Given the description of an element on the screen output the (x, y) to click on. 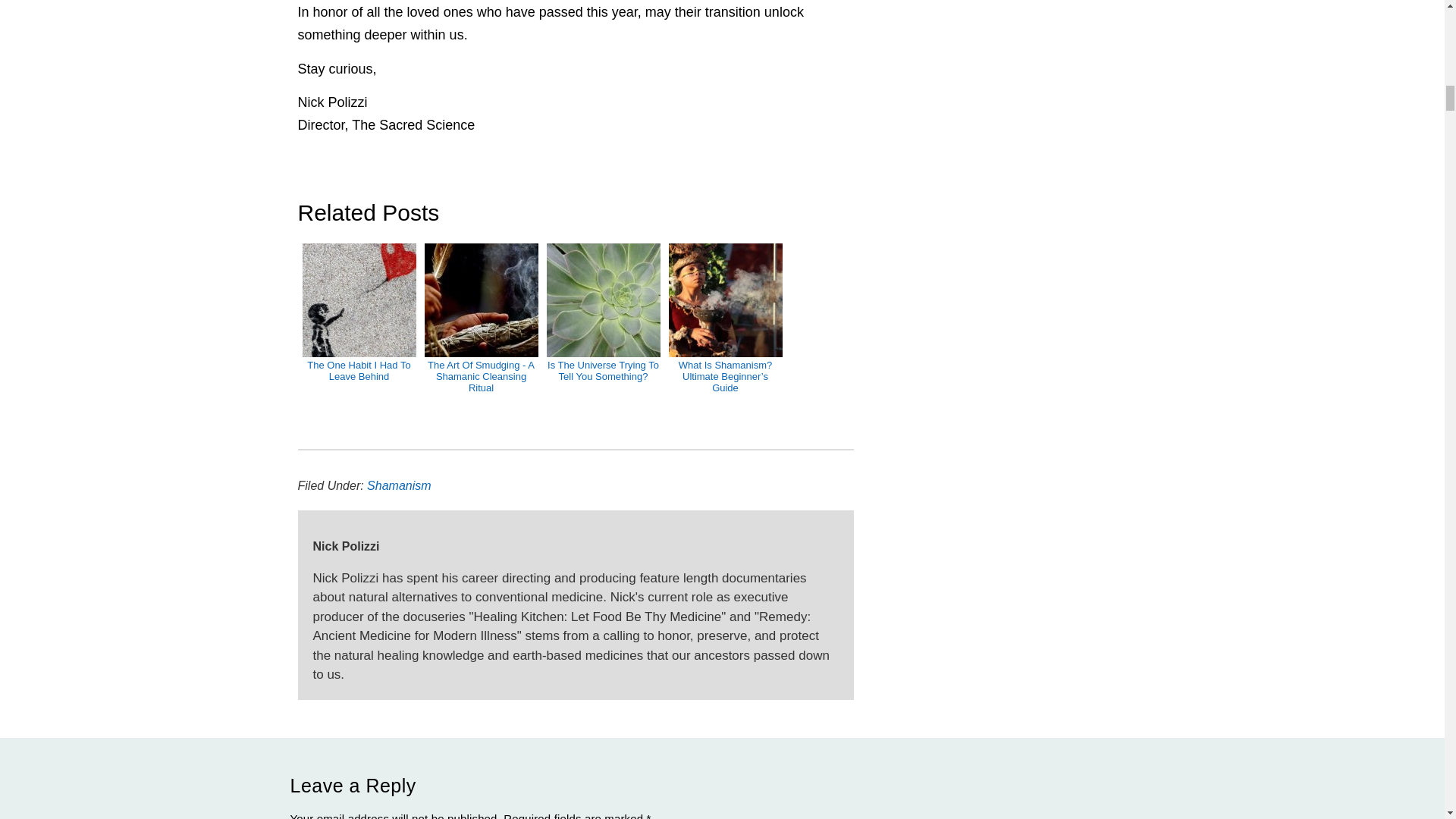
Shamanism (398, 485)
Nick Polizzi (575, 542)
